Given the description of an element on the screen output the (x, y) to click on. 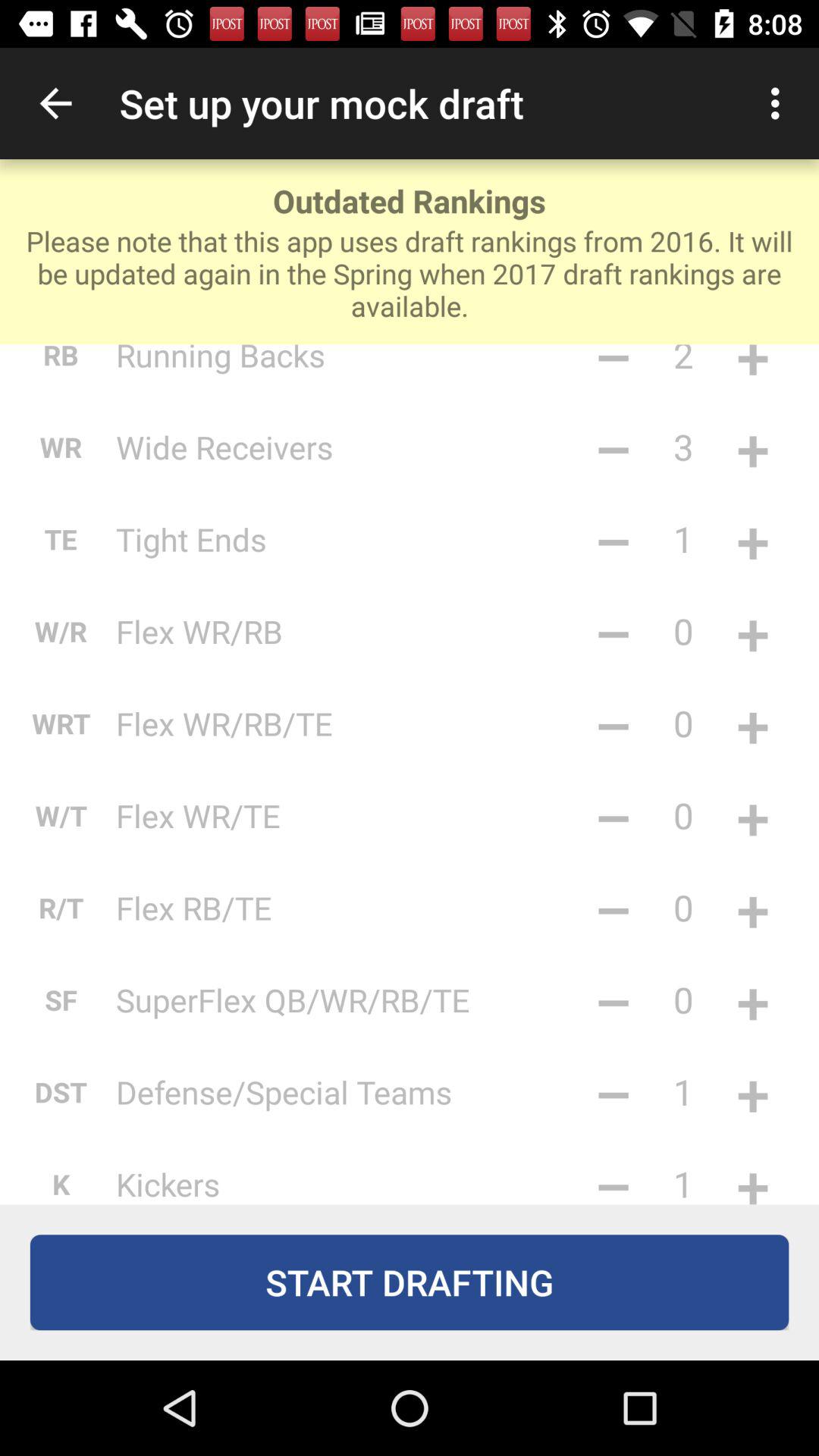
select the app next to the set up your (55, 103)
